Given the description of an element on the screen output the (x, y) to click on. 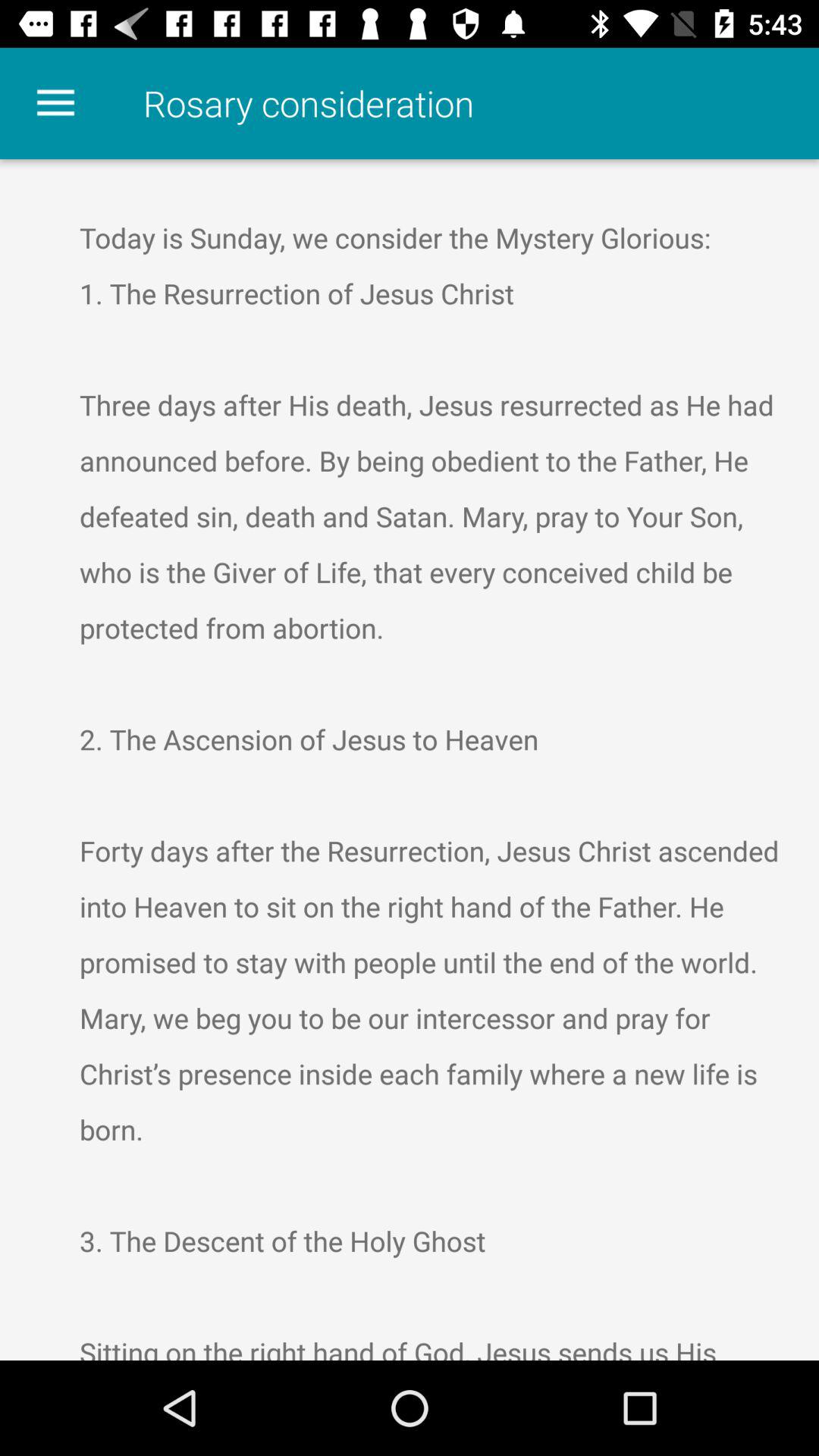
click the icon next to rosary consideration item (55, 103)
